Given the description of an element on the screen output the (x, y) to click on. 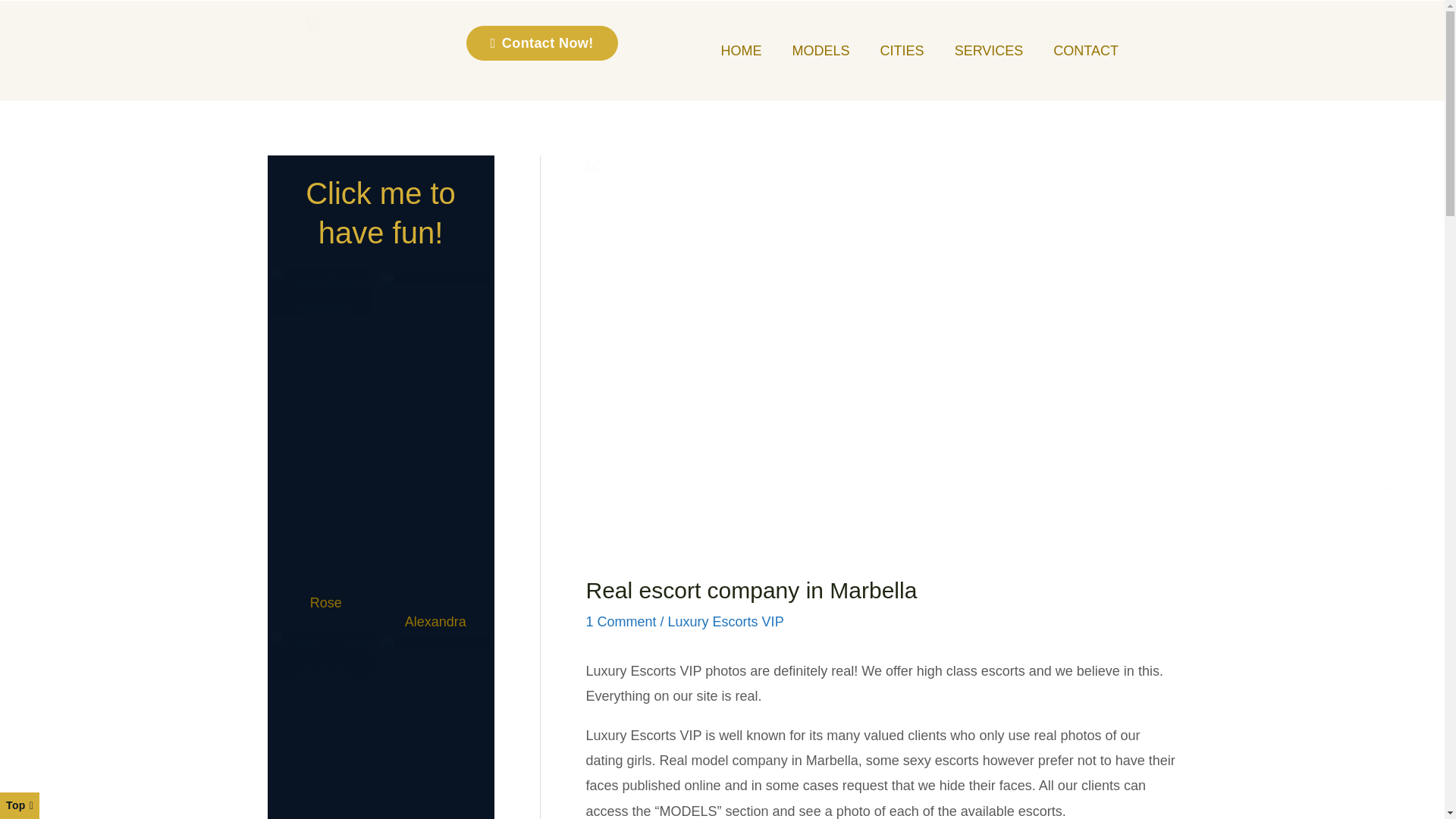
CONTACT (1086, 50)
CITIES (901, 50)
Contact Now! (541, 42)
MODELS (820, 50)
SERVICES (989, 50)
HOME (741, 50)
